Given the description of an element on the screen output the (x, y) to click on. 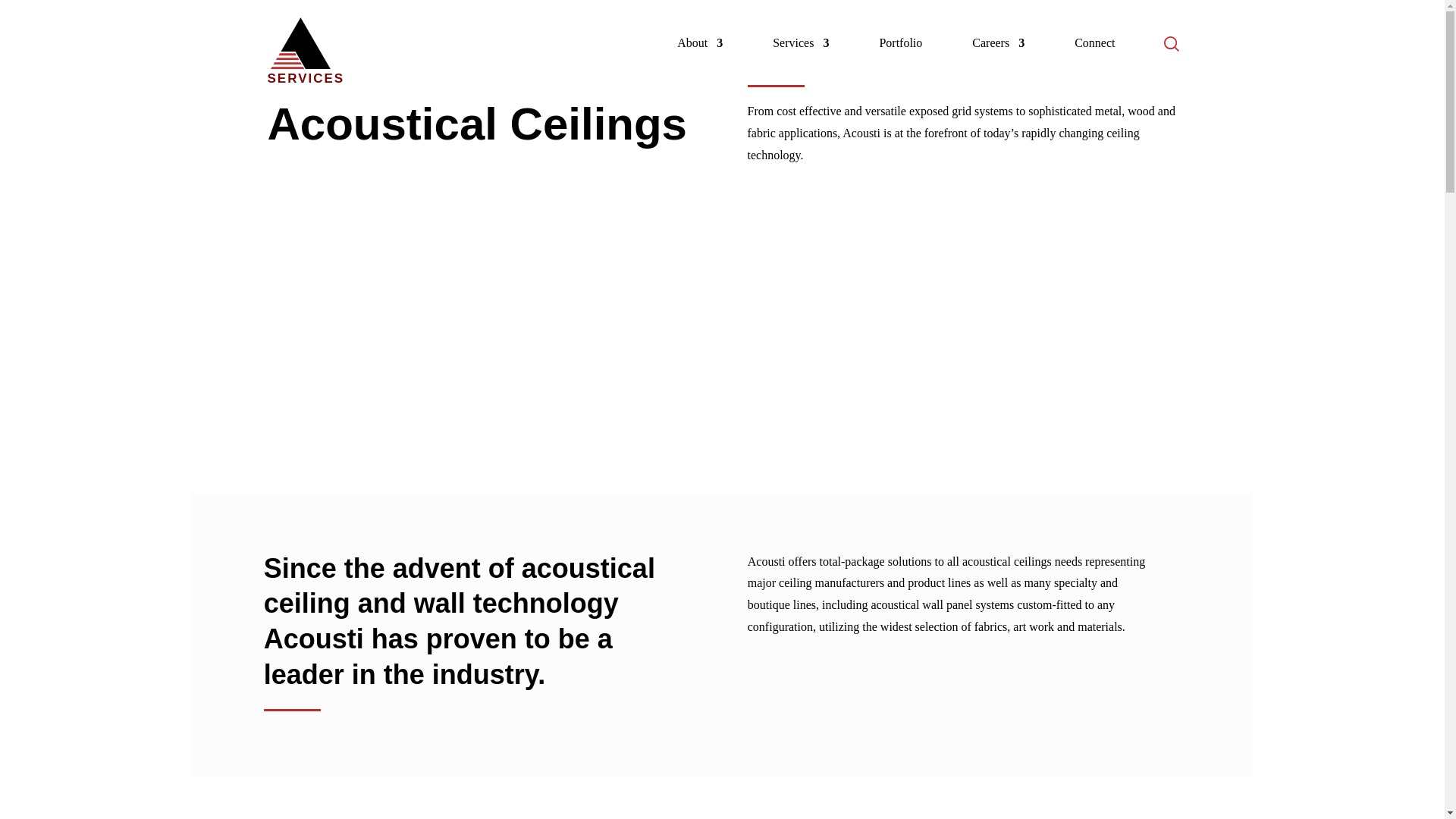
Careers (998, 61)
Portfolio (900, 61)
About (699, 61)
Services (800, 61)
